Given the description of an element on the screen output the (x, y) to click on. 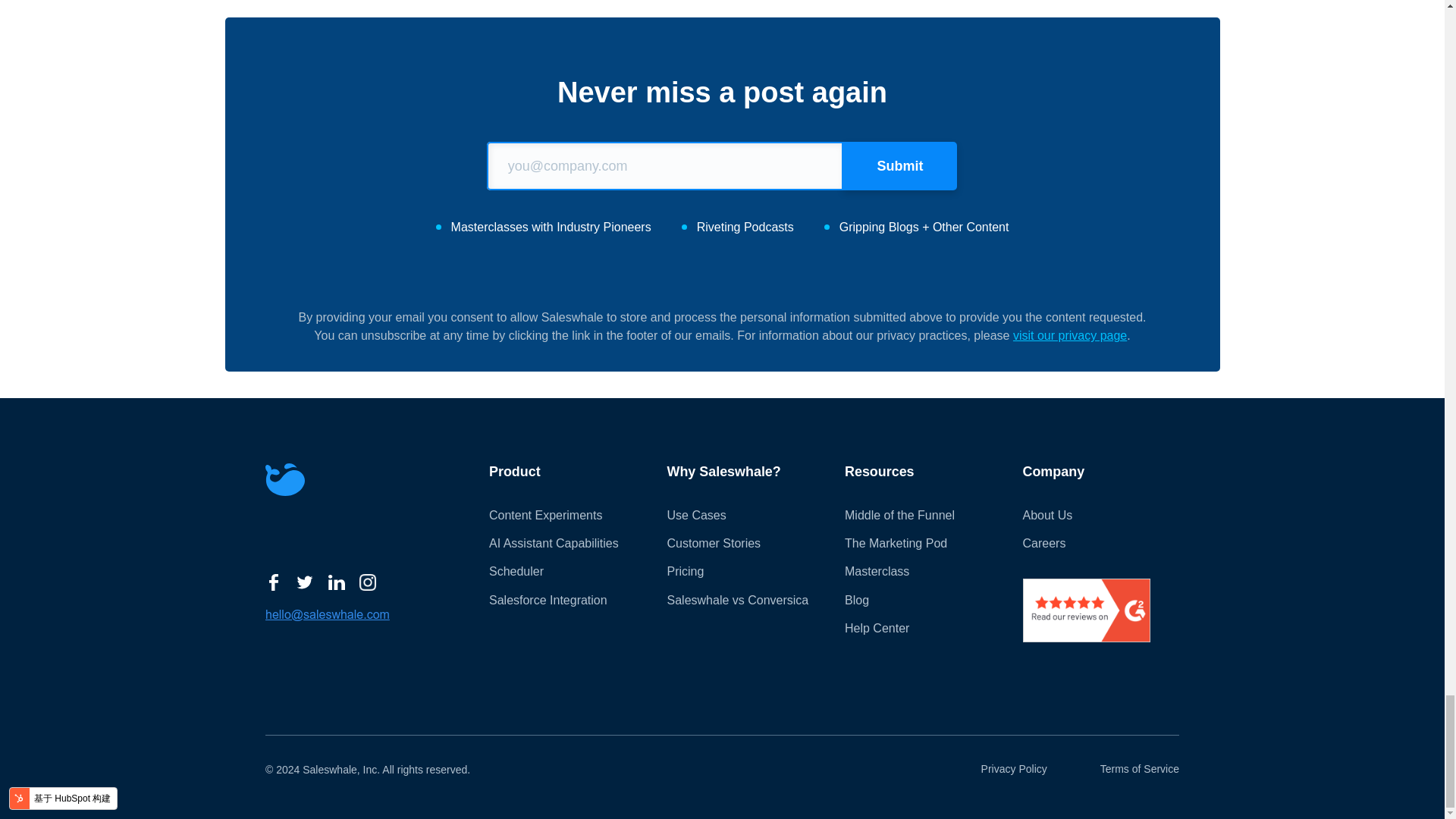
Submit (900, 165)
